Given the description of an element on the screen output the (x, y) to click on. 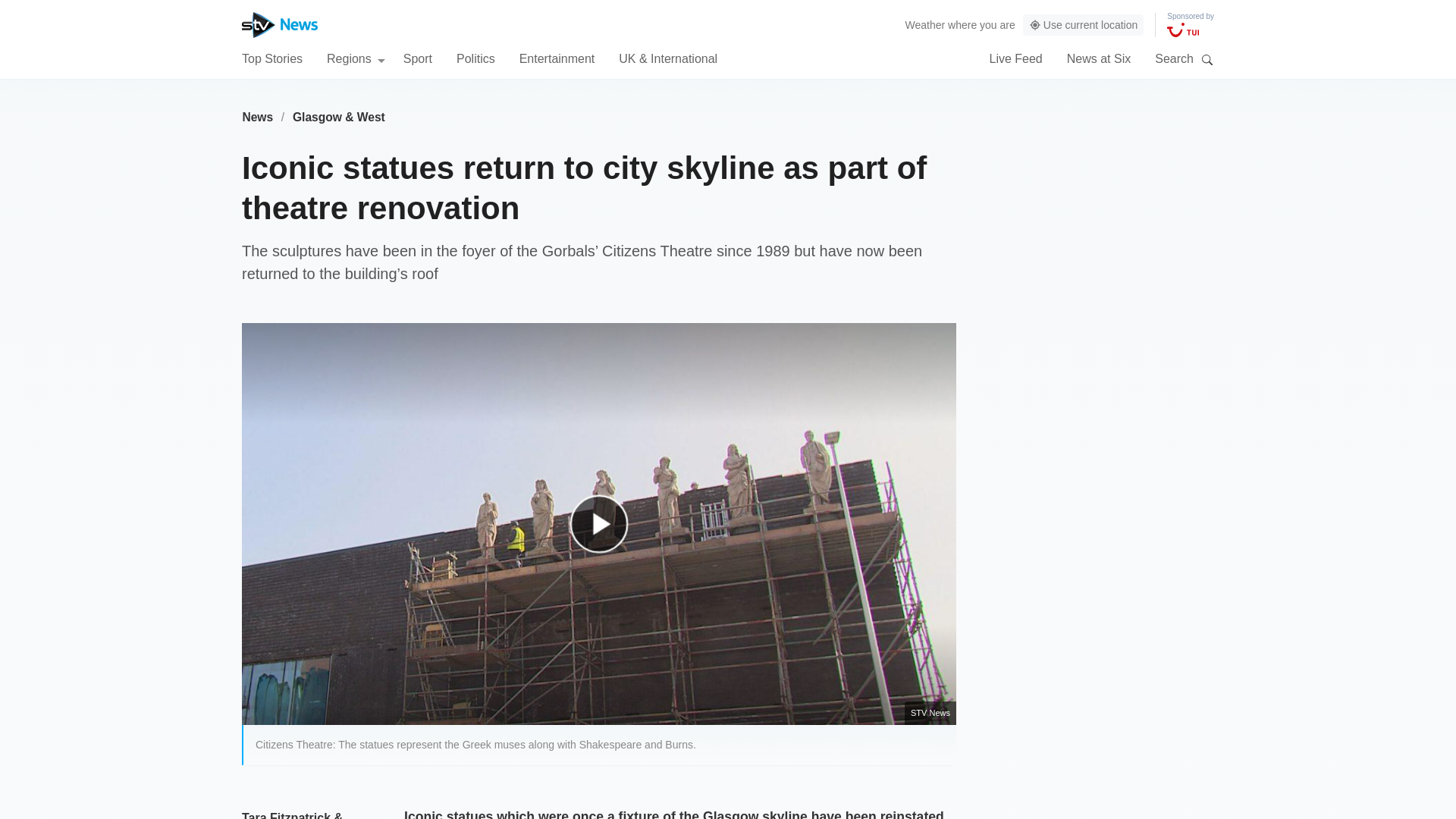
Search (1206, 59)
Regions (355, 57)
Top Stories (271, 57)
Live Feed (1015, 57)
News at Six (1099, 57)
Entertainment (557, 57)
Politics (476, 57)
News (257, 116)
Play Video (606, 530)
Use current location (1083, 25)
Weather (924, 24)
